Given the description of an element on the screen output the (x, y) to click on. 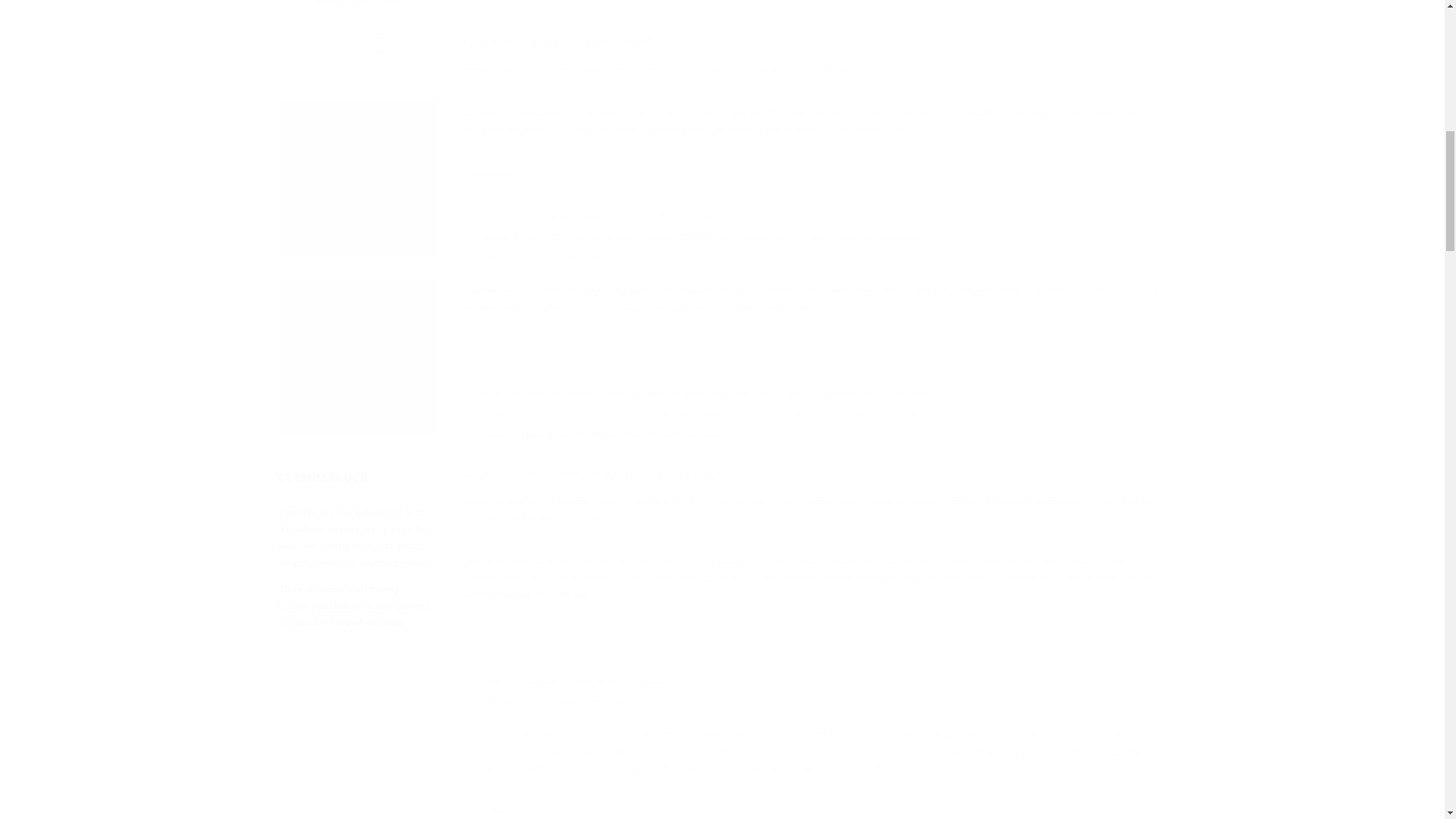
Example product title (358, 4)
View our oversized tennis racquets (663, 393)
View our midsize tennis racquets (623, 215)
View our midplus tennis racquets (579, 393)
View our midplus tennis racquets (541, 680)
View our midsize tennis racquets (623, 680)
View our midplus tennis racquets (541, 215)
